Given the description of an element on the screen output the (x, y) to click on. 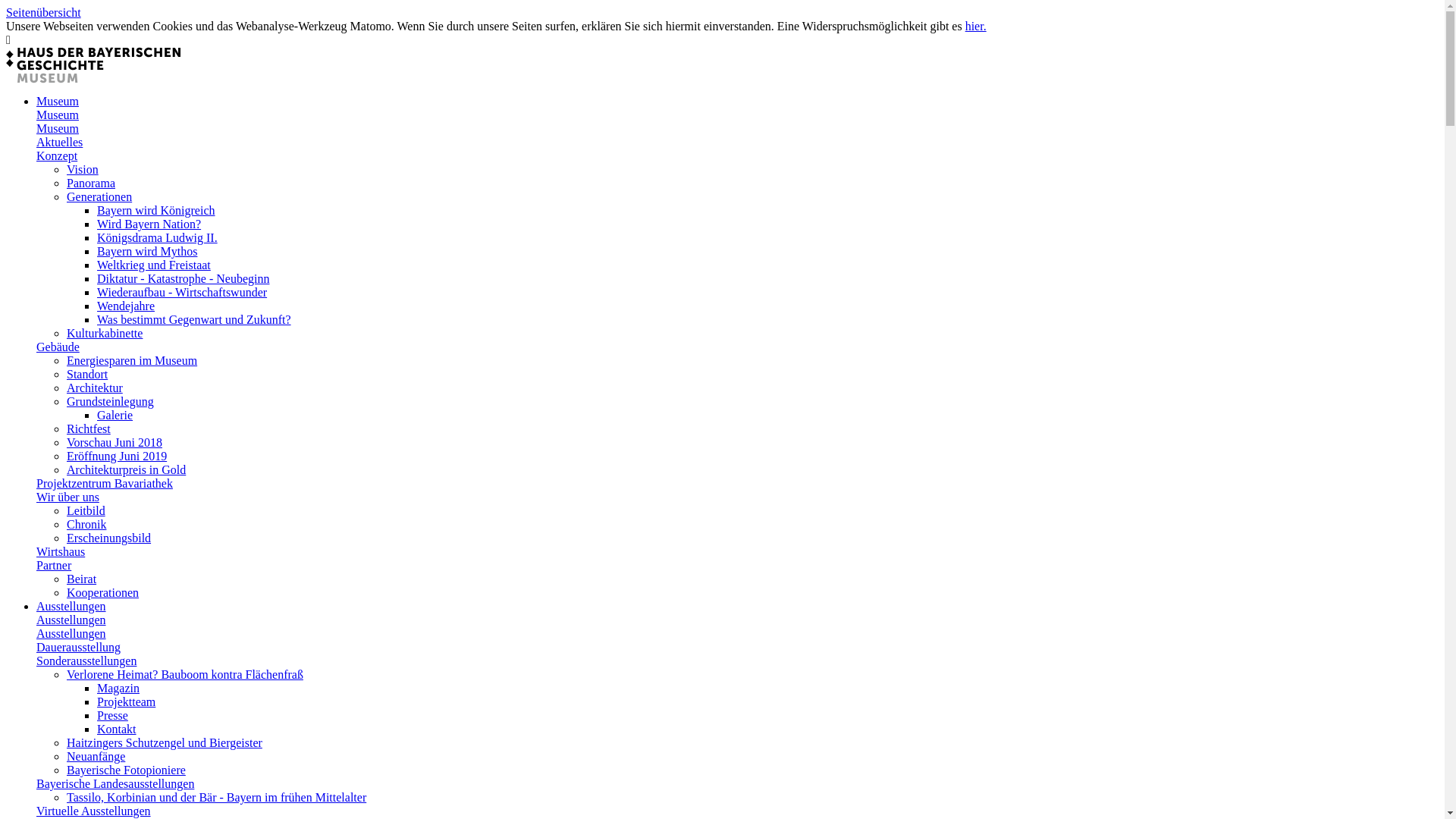
Kulturkabinette Element type: text (104, 332)
Magazin Element type: text (118, 687)
Leitbild Element type: text (85, 510)
Sonderausstellungen Element type: text (86, 660)
Energiesparen im Museum Element type: text (131, 360)
Wirtshaus Element type: text (60, 551)
Panorama Element type: text (90, 182)
Museum Element type: text (57, 100)
Projektteam Element type: text (126, 701)
Architekturpreis in Gold Element type: text (125, 469)
Ausstellungen Element type: text (71, 633)
Bayerische Fotopioniere Element type: text (125, 769)
Richtfest Element type: text (88, 428)
Wiederaufbau - Wirtschaftswunder Element type: text (181, 291)
Projektzentrum Bavariathek Element type: text (104, 482)
Partner Element type: text (53, 564)
hier. Element type: text (975, 25)
Bayerische Landesausstellungen Element type: text (115, 783)
Kooperationen Element type: text (102, 592)
Weltkrieg und Freistaat Element type: text (153, 264)
Beirat Element type: text (81, 578)
Ausstellungen Element type: text (71, 605)
Erscheinungsbild Element type: text (108, 537)
Vorschau Juni 2018 Element type: text (114, 442)
Ausstellungen Element type: text (71, 619)
Dauerausstellung Element type: text (78, 646)
Grundsteinlegung Element type: text (109, 401)
Galerie Element type: text (114, 414)
Aktuelles Element type: text (59, 141)
Wendejahre Element type: text (125, 305)
Startseite Element type: hover (93, 64)
Wird Bayern Nation? Element type: text (148, 223)
Presse Element type: text (112, 715)
Bayern wird Mythos Element type: text (147, 250)
Haitzingers Schutzengel und Biergeister Element type: text (164, 742)
Diktatur - Katastrophe - Neubeginn Element type: text (183, 278)
Museum Element type: text (57, 114)
Was bestimmt Gegenwart und Zukunft? Element type: text (194, 319)
Standort Element type: text (86, 373)
Virtuelle Ausstellungen Element type: text (93, 810)
Architektur Element type: text (94, 387)
Vision Element type: text (82, 169)
Museum Element type: text (57, 128)
Kontakt Element type: text (116, 728)
Generationen Element type: text (98, 196)
Chronik Element type: text (86, 523)
Konzept Element type: text (56, 155)
